Given the description of an element on the screen output the (x, y) to click on. 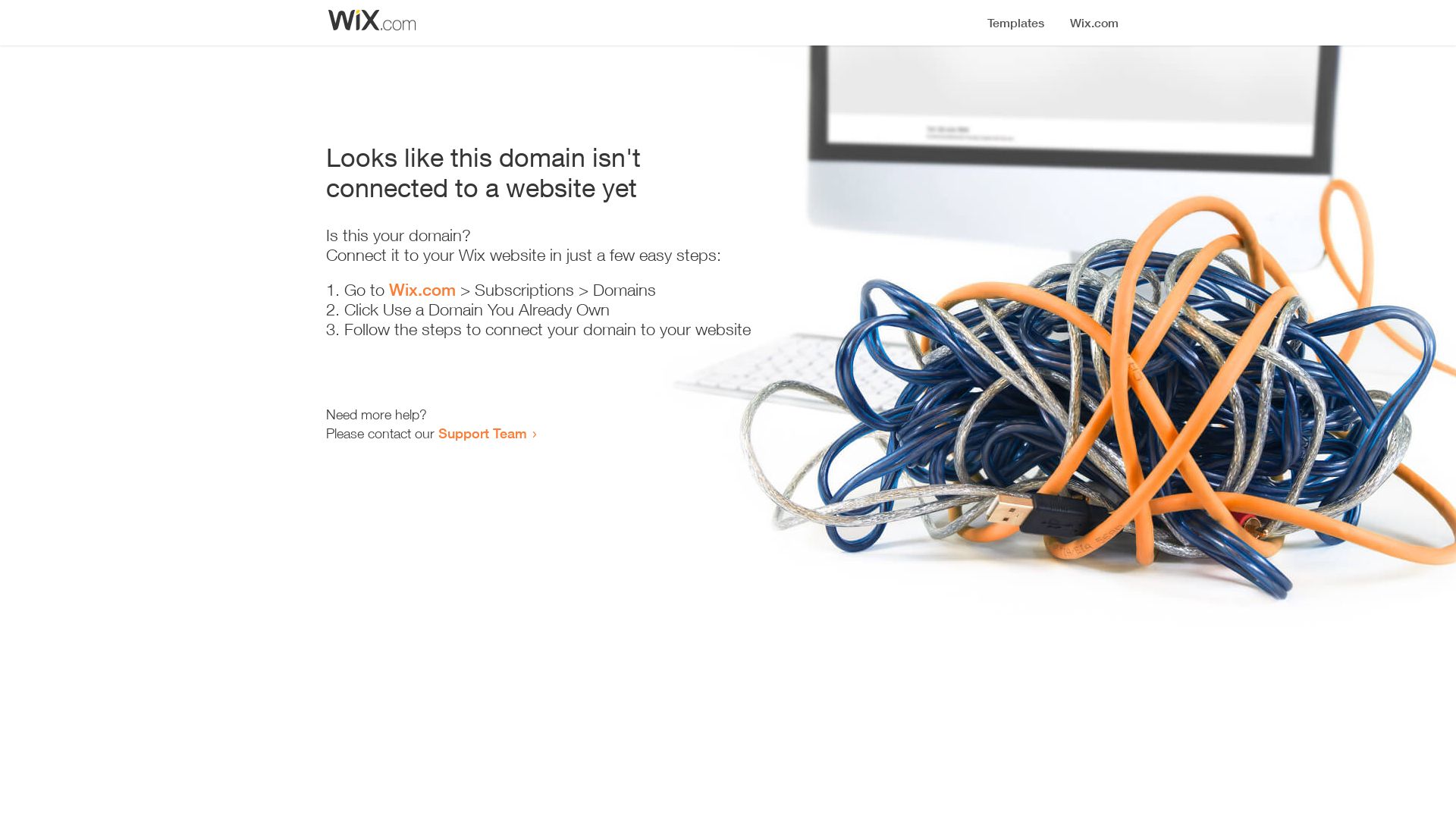
Support Team Element type: text (482, 432)
Wix.com Element type: text (422, 289)
